Given the description of an element on the screen output the (x, y) to click on. 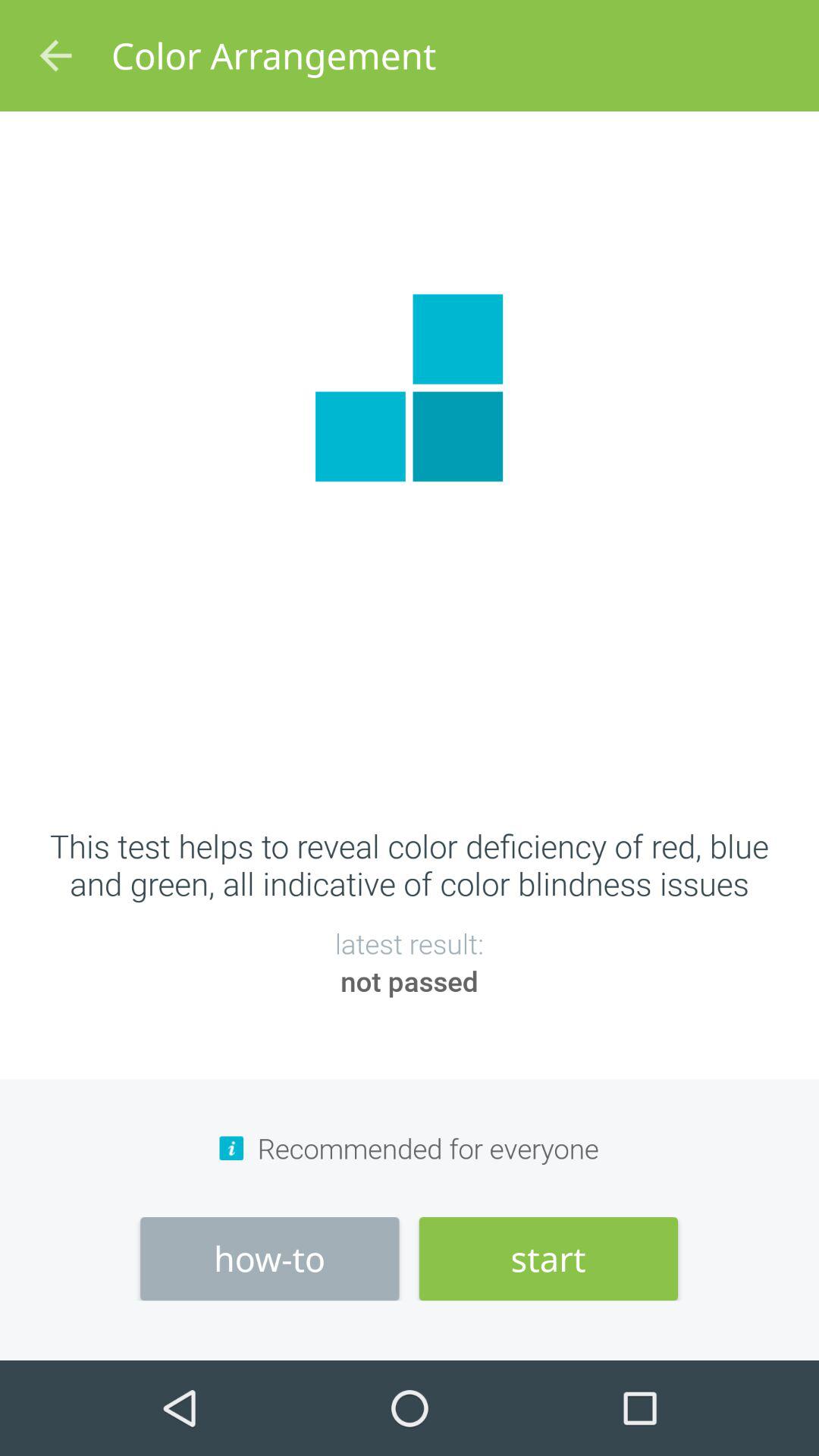
open start icon (548, 1258)
